Given the description of an element on the screen output the (x, y) to click on. 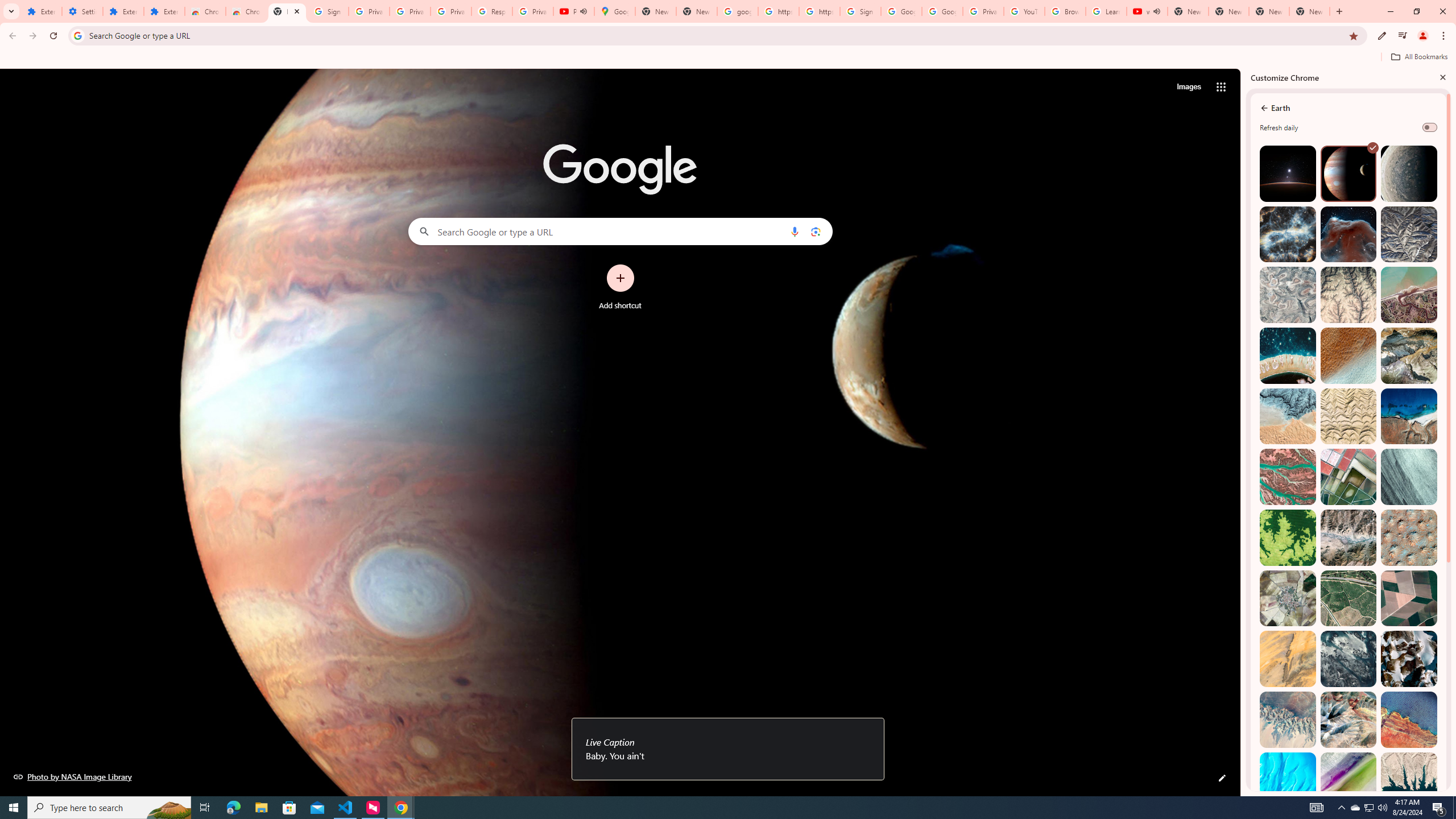
Customize Chrome (1382, 35)
Granville, France (1348, 658)
Sign in - Google Accounts (327, 11)
Iceland (1408, 476)
Chrome Web Store (205, 11)
Pozoantiguo, Spain (1287, 598)
